Given the description of an element on the screen output the (x, y) to click on. 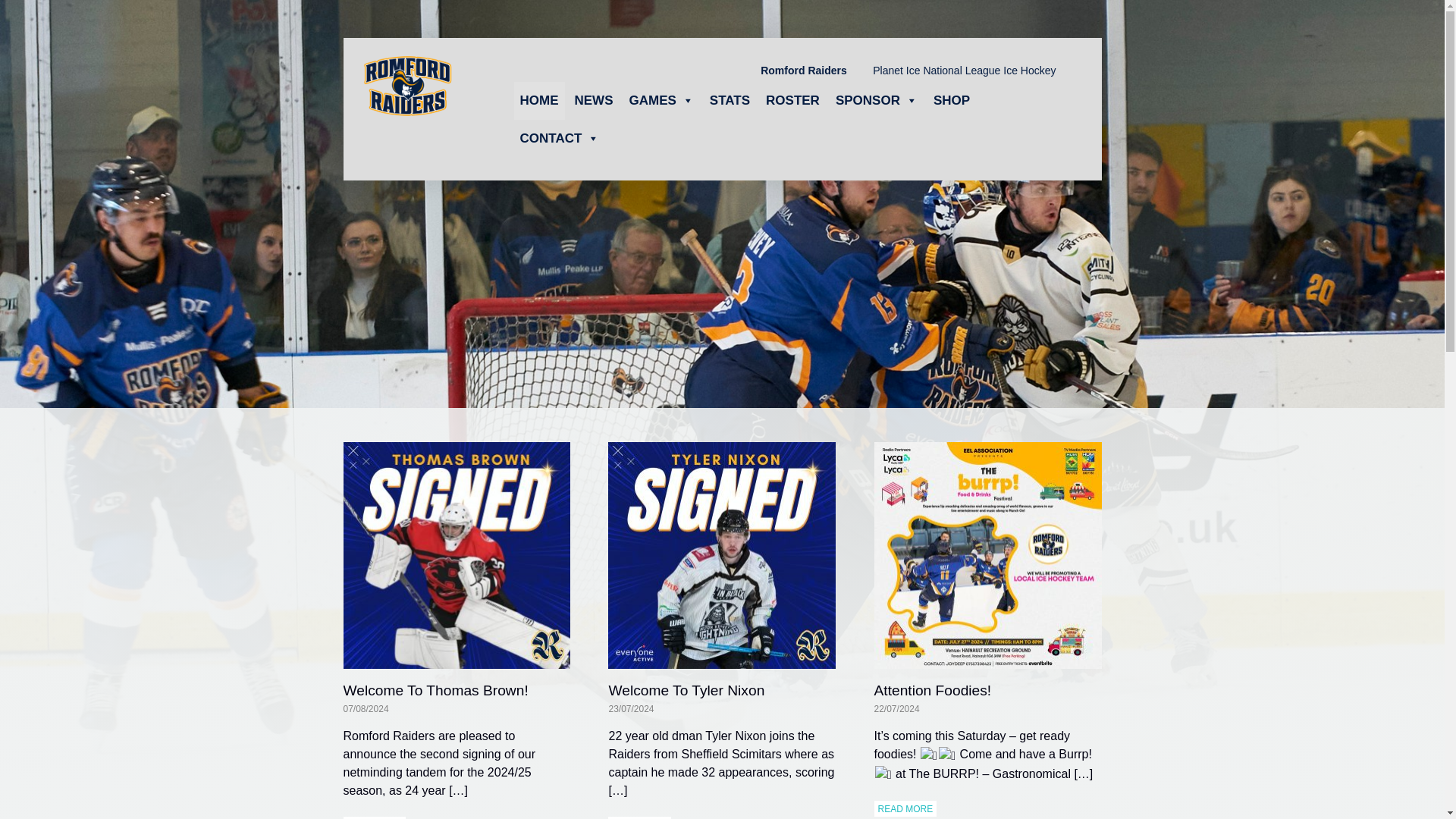
HOME (538, 100)
READ MORE (906, 808)
SPONSOR (876, 100)
READ MORE (374, 817)
GAMES (661, 100)
CONTACT (559, 138)
Romford Raiders (803, 70)
NEWS (594, 100)
Welcome To Tyler Nixon (686, 690)
READ MORE (639, 817)
